Given the description of an element on the screen output the (x, y) to click on. 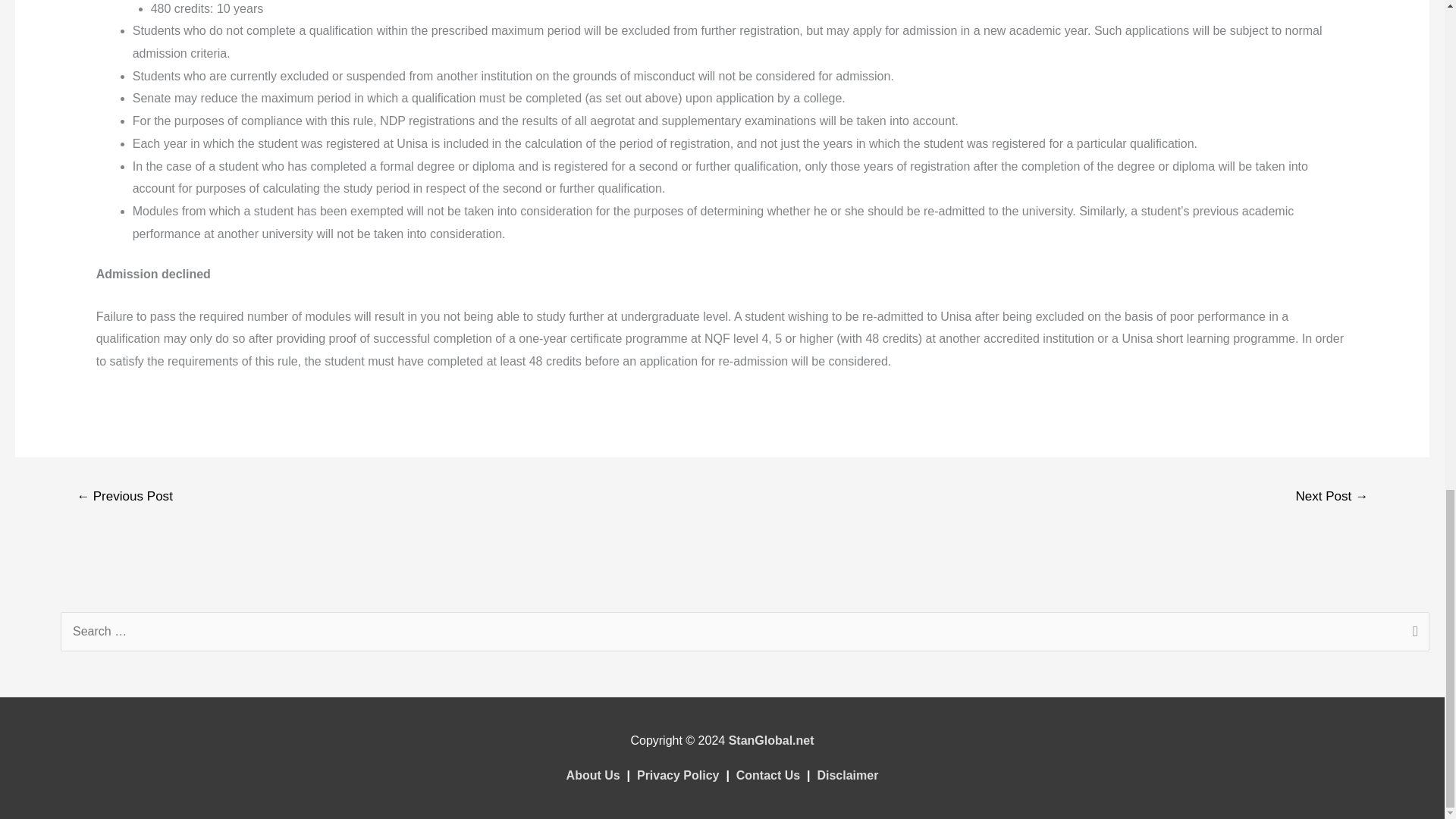
StanGlobal.net (771, 739)
Disclaimer (846, 775)
Contact Us (767, 775)
About Us (593, 775)
Privacy Policy (678, 775)
